Given the description of an element on the screen output the (x, y) to click on. 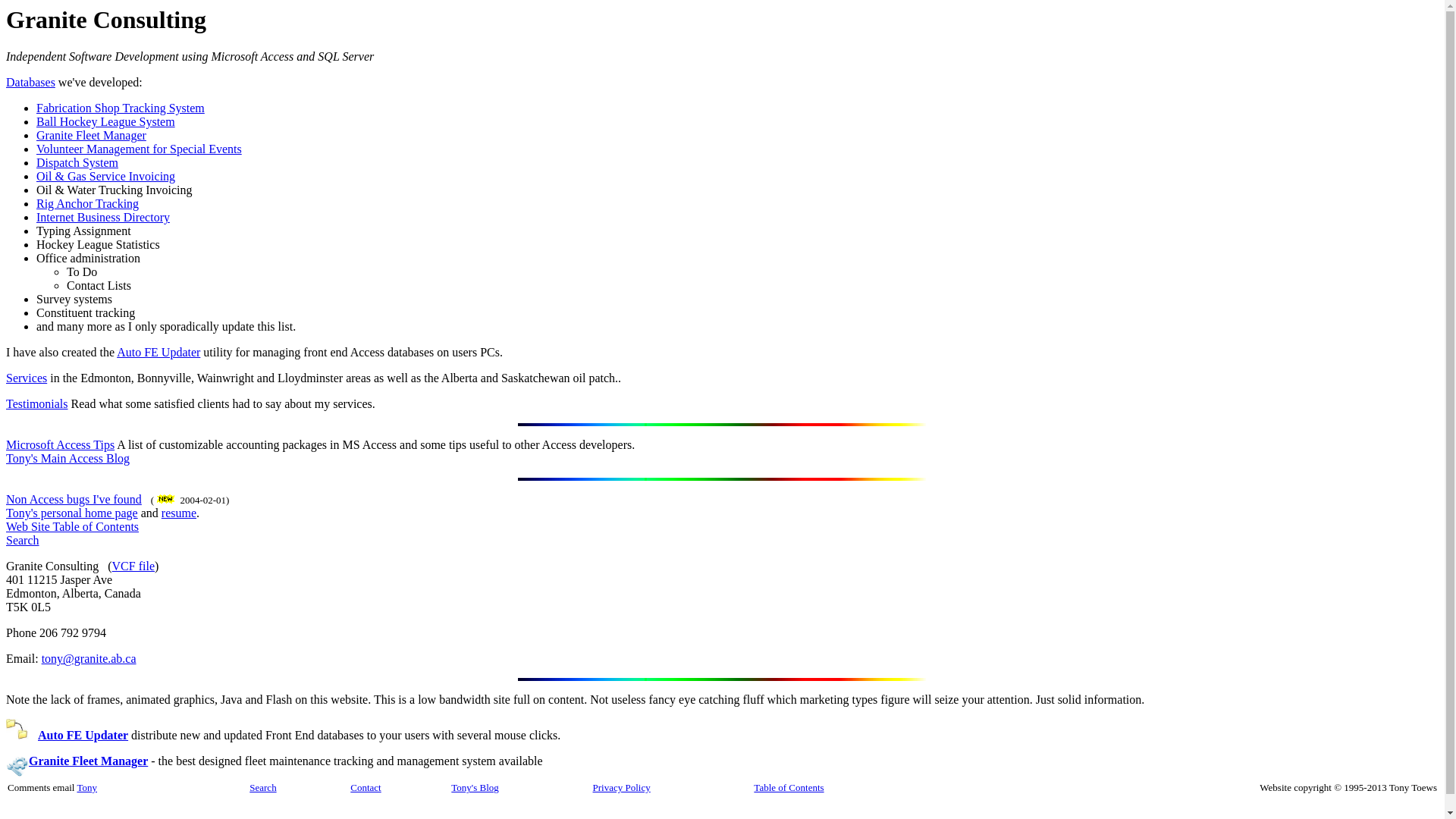
Search Element type: text (22, 539)
Web Site Table of Contents Element type: text (72, 526)
Tony's Main Access Blog Element type: text (67, 457)
Non Access bugs I've found Element type: text (73, 498)
Granite Fleet Manager Element type: text (87, 760)
Tony Element type: text (86, 787)
Privacy Policy Element type: text (621, 786)
tony@granite.ab.ca Element type: text (88, 658)
Auto FE Updater Element type: text (82, 734)
Contact Element type: text (365, 786)
Testimonials Element type: text (37, 403)
Oil & Gas Service Invoicing Element type: text (105, 175)
VCF file Element type: text (133, 565)
Granite Fleet Manager Element type: text (91, 134)
Auto FE Updater Element type: text (158, 351)
Databases Element type: text (30, 81)
Microsoft Access Tips Element type: text (60, 444)
Tony's Blog Element type: text (474, 787)
Search Element type: text (262, 787)
Volunteer Management for Special Events Element type: text (138, 148)
Internet Business Directory Element type: text (102, 216)
Tony's personal home page Element type: text (72, 512)
resume Element type: text (178, 512)
Services Element type: text (26, 377)
Fabrication Shop Tracking System Element type: text (120, 107)
Dispatch System Element type: text (77, 162)
Rig Anchor Tracking Element type: text (87, 203)
Ball Hockey League System Element type: text (105, 121)
Table of Contents Element type: text (788, 787)
